Given the description of an element on the screen output the (x, y) to click on. 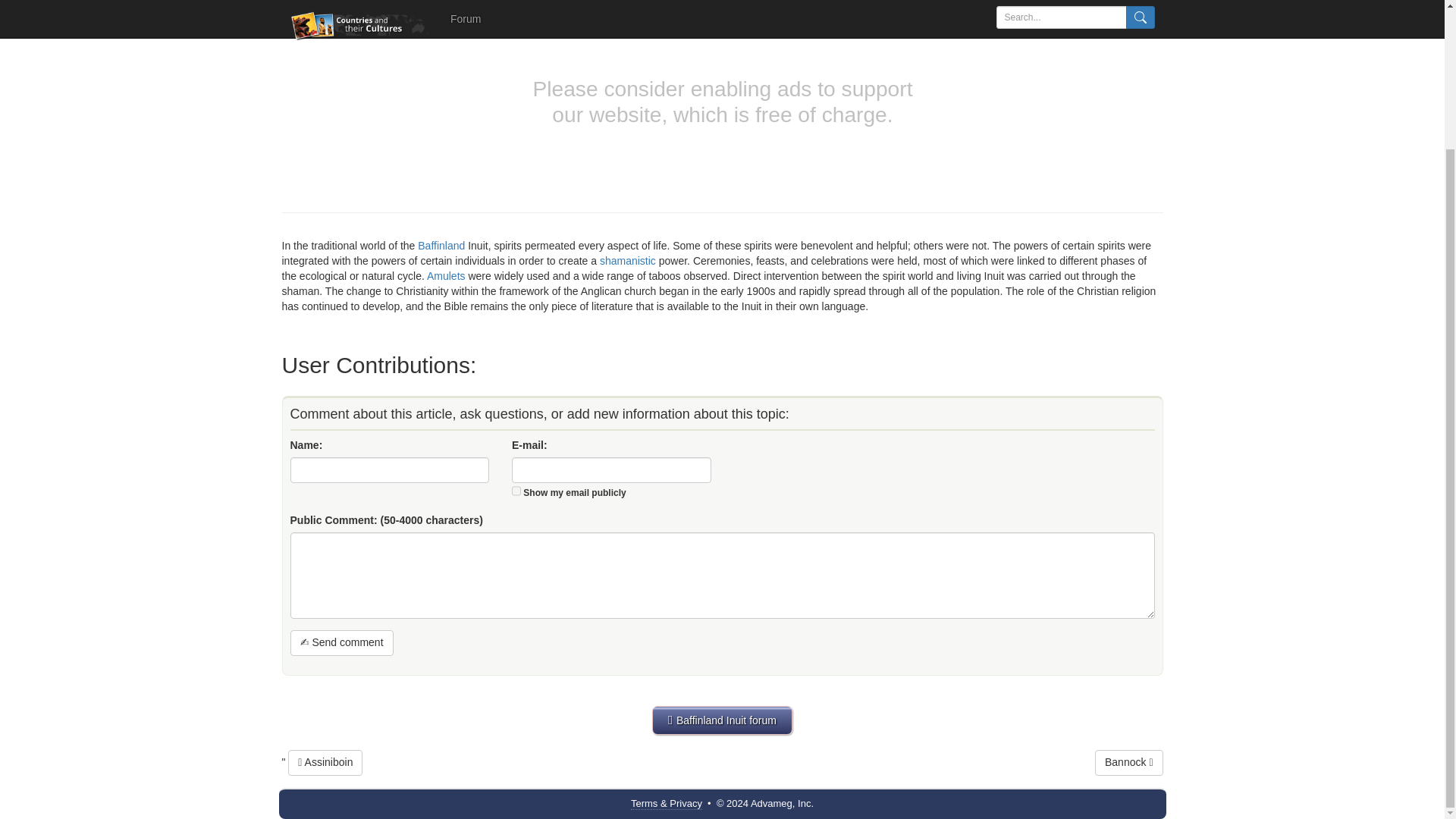
View 'shamanistic' definition from Wikipedia (627, 260)
View 'baffinland' definition from Wikipedia (440, 245)
Baffinland Inuit forum (722, 719)
Amulets (445, 275)
Bannock (1128, 762)
View 'amulets' definition from Wikipedia (445, 275)
Baffinland (440, 245)
shamanistic (627, 260)
Assiniboin (325, 762)
1 (516, 491)
